Given the description of an element on the screen output the (x, y) to click on. 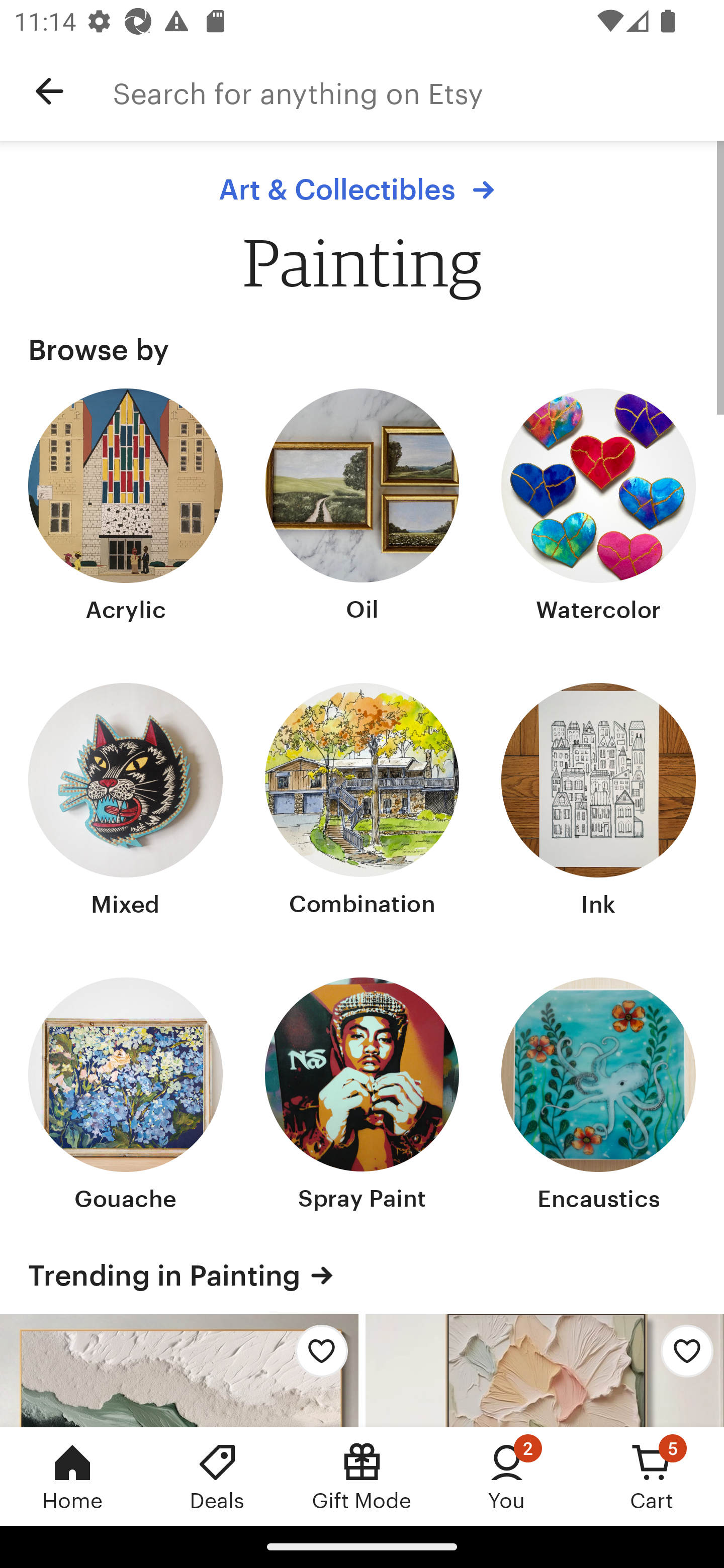
Navigate up (49, 91)
Search for anything on Etsy (418, 91)
Art & Collectibles (361, 189)
Acrylic (125, 507)
Oil (361, 507)
Watercolor (598, 507)
Mixed (125, 802)
Combination (361, 802)
Ink (598, 802)
Gouache (125, 1095)
Spray Paint (361, 1095)
Encaustics (598, 1095)
Trending in Painting  (361, 1275)
Deals (216, 1475)
Gift Mode (361, 1475)
You, 2 new notifications You (506, 1475)
Cart, 5 new notifications Cart (651, 1475)
